Given the description of an element on the screen output the (x, y) to click on. 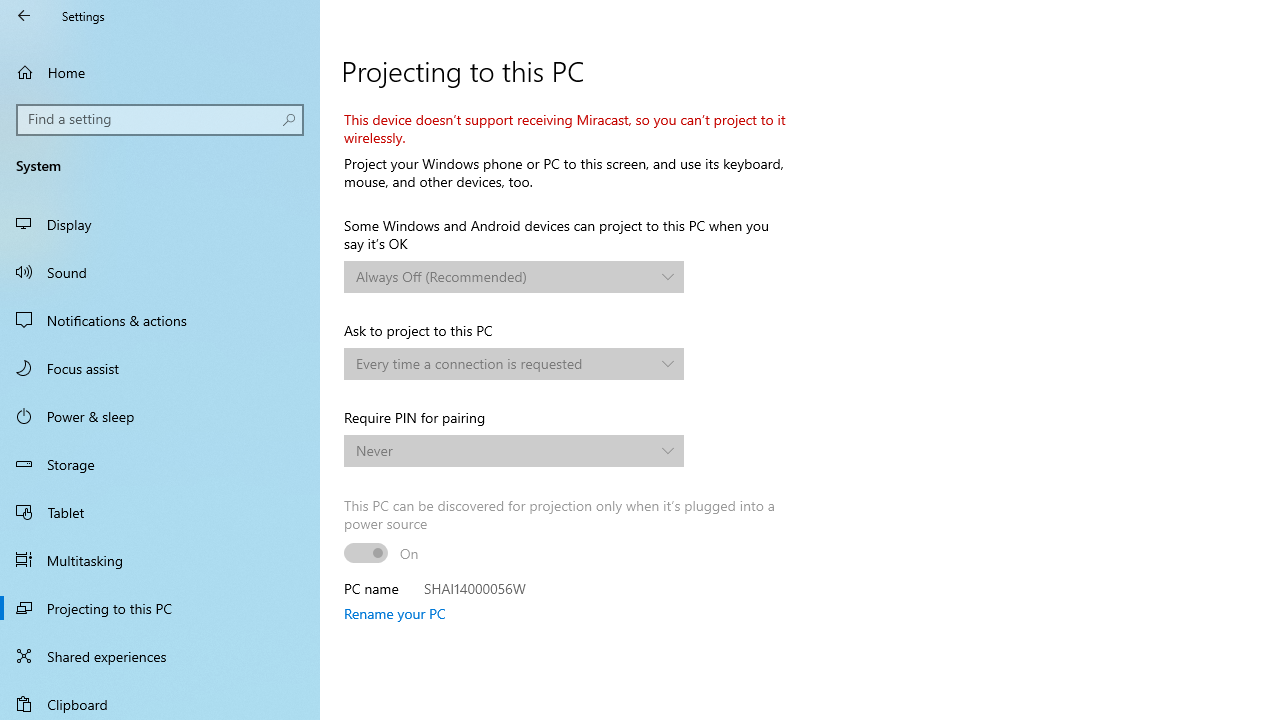
Shared experiences (160, 655)
Power & sleep (160, 415)
Every time a connection is requested (503, 363)
Tablet (160, 511)
Search box, Find a setting (160, 119)
Never (503, 450)
Require PIN for pairing (513, 450)
Rename your PC (394, 613)
Always Off (Recommended) (503, 276)
Display (160, 223)
Sound (160, 271)
